Given the description of an element on the screen output the (x, y) to click on. 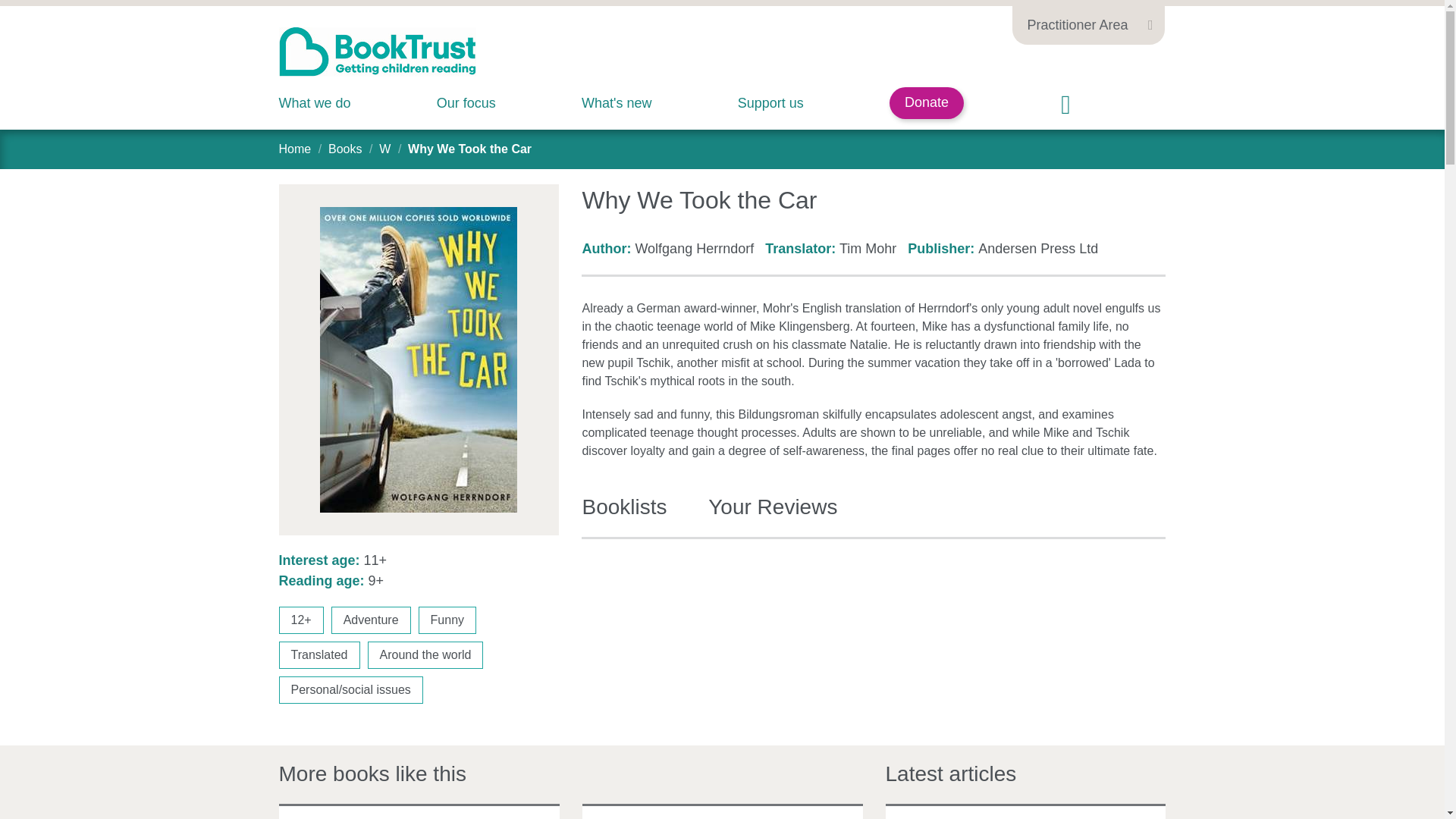
What we do (314, 103)
Practitioner Area (1087, 22)
Home (295, 148)
BookTrust Logo (377, 51)
